Given the description of an element on the screen output the (x, y) to click on. 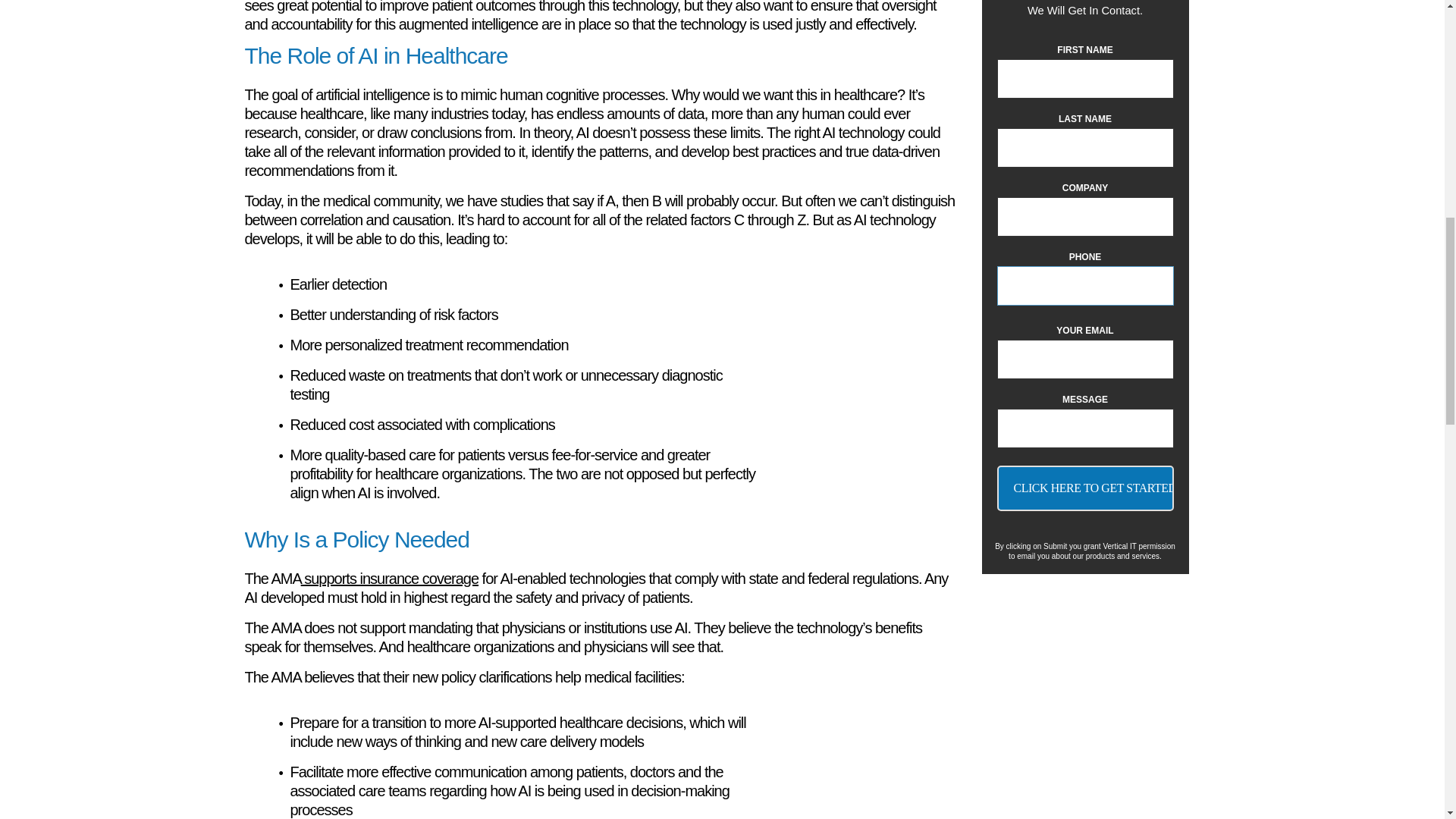
Click Here To Get Started (1084, 488)
 supports insurance coverage (390, 578)
Click Here To Get Started (1084, 488)
